Given the description of an element on the screen output the (x, y) to click on. 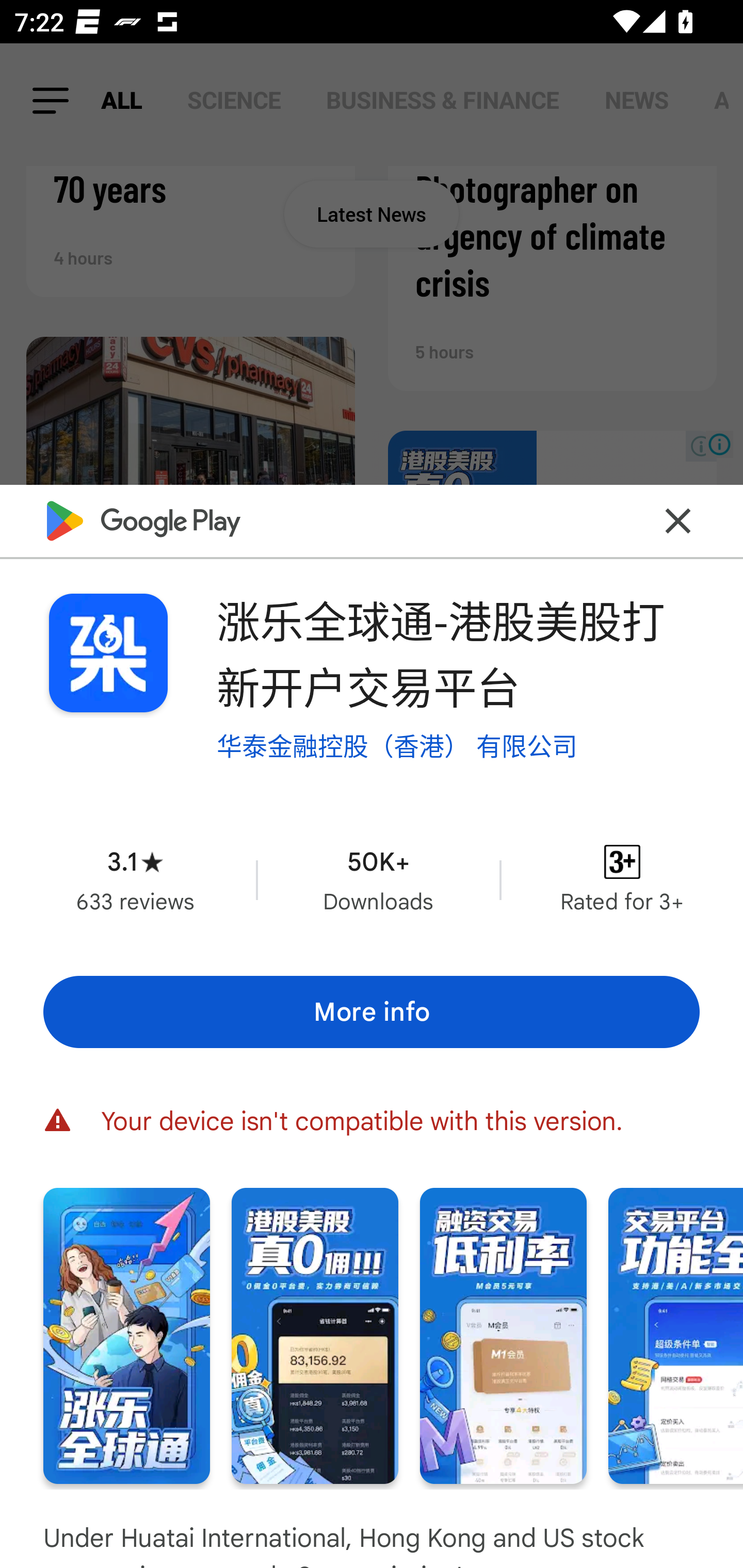
Close (677, 520)
Image of app or game icon for 涨乐全球通-港股美股打新开户交易平台 (108, 653)
华泰金融控股（香港） 有限公司 (396, 745)
More info (371, 1011)
Screenshot "1" of "6" (126, 1335)
Screenshot "2" of "6" (314, 1335)
Screenshot "3" of "6" (502, 1335)
Screenshot "4" of "6" (675, 1335)
